Given the description of an element on the screen output the (x, y) to click on. 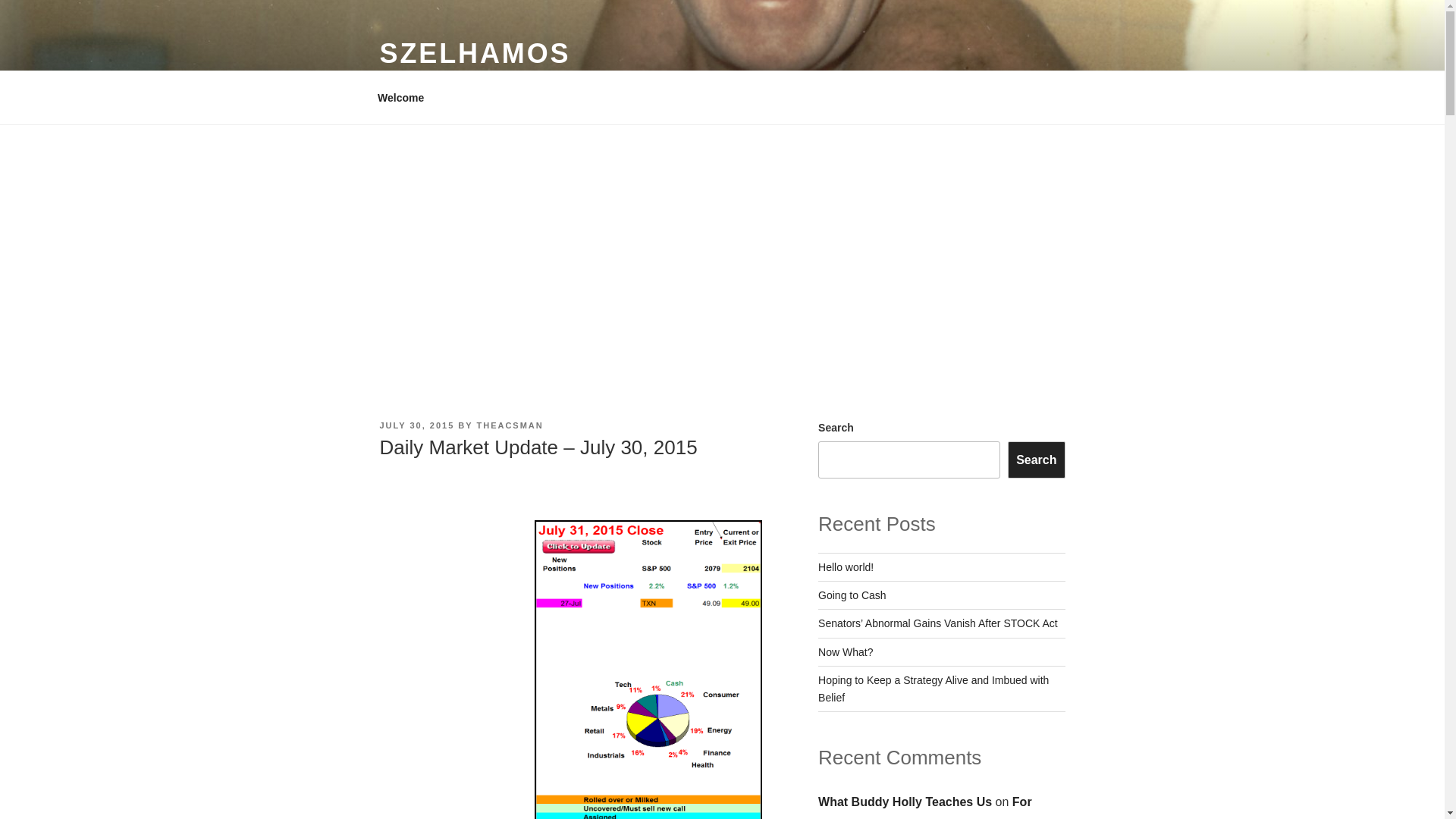
Welcome (400, 97)
For Reformed Broker (925, 807)
JULY 30, 2015 (416, 424)
Now What? (845, 652)
Going to Cash (852, 594)
What Buddy Holly Teaches Us (904, 801)
Hoping to Keep a Strategy Alive and Imbued with Belief (933, 688)
THEACSMAN (509, 424)
Search (1035, 459)
